Given the description of an element on the screen output the (x, y) to click on. 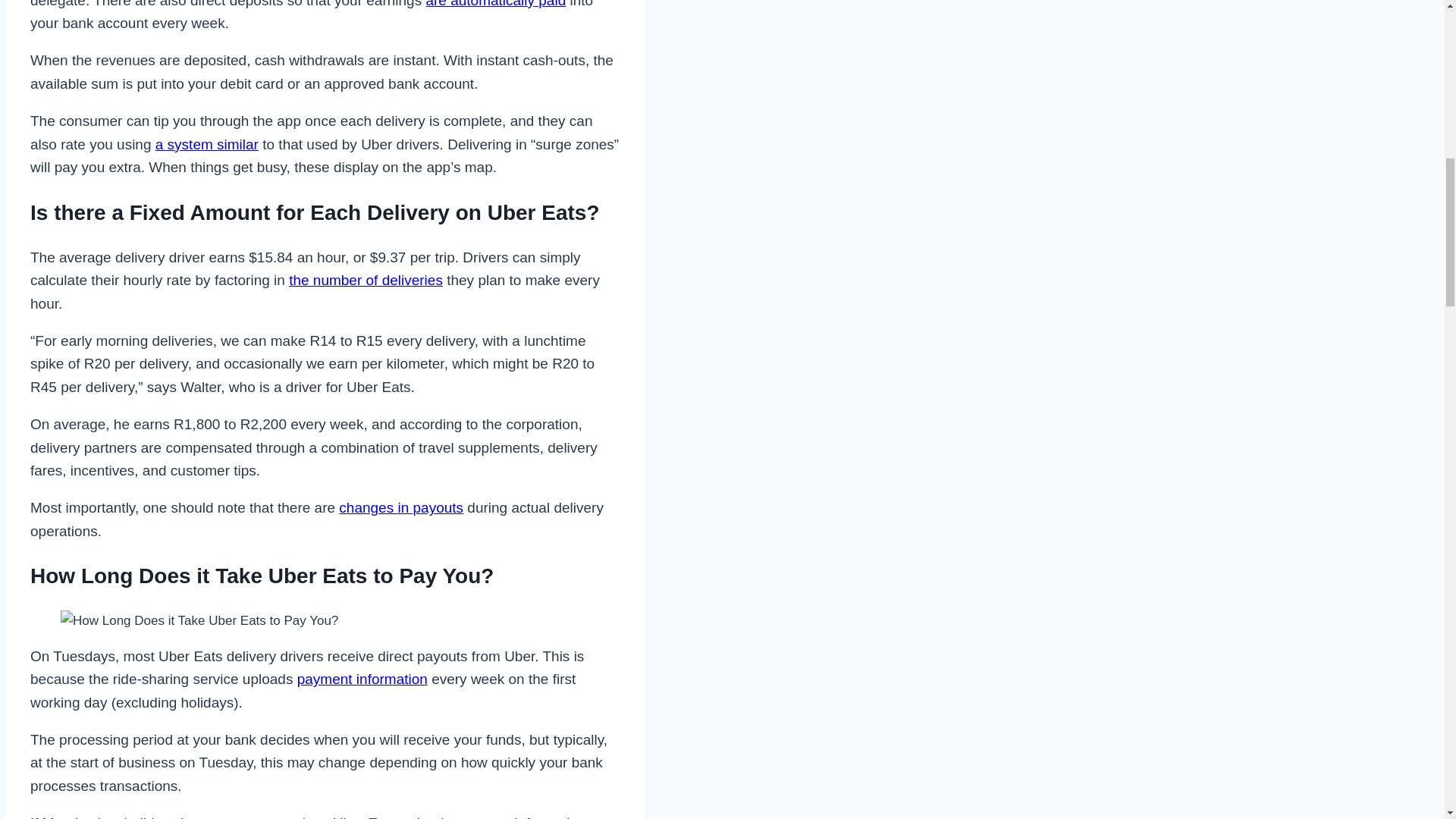
a system similar (207, 144)
payment information (362, 678)
are automatically paid (495, 4)
changes in payouts (401, 507)
the number of deliveries (365, 279)
